Given the description of an element on the screen output the (x, y) to click on. 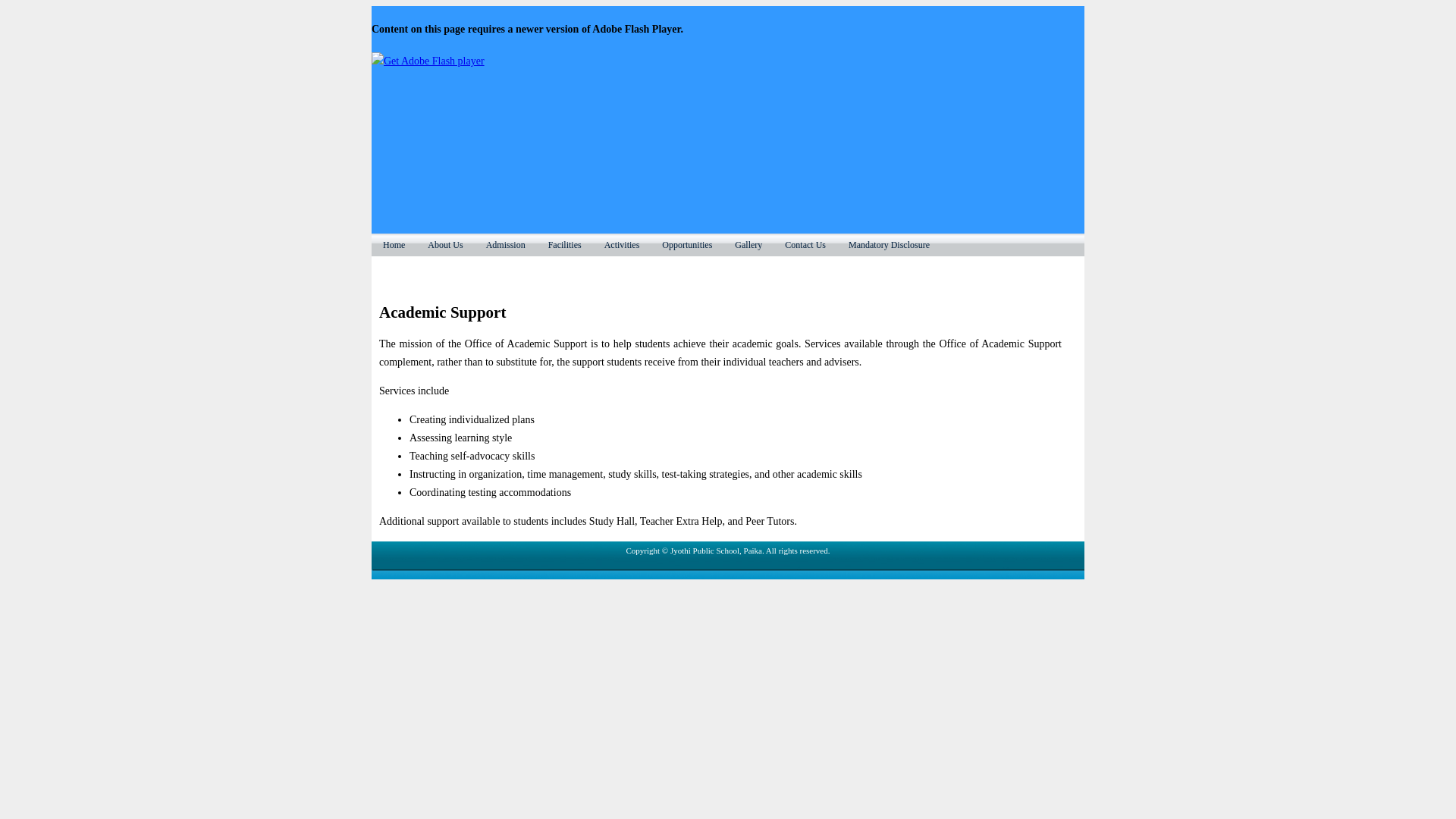
Gallery (748, 244)
Activities (621, 244)
About Us (445, 244)
Home (393, 244)
Jyothi Public School, Paika (727, 45)
Facilities (564, 244)
Contact Us (805, 244)
Admission (505, 244)
Mandatory Disclosure (888, 244)
Opportunities (686, 244)
